Given the description of an element on the screen output the (x, y) to click on. 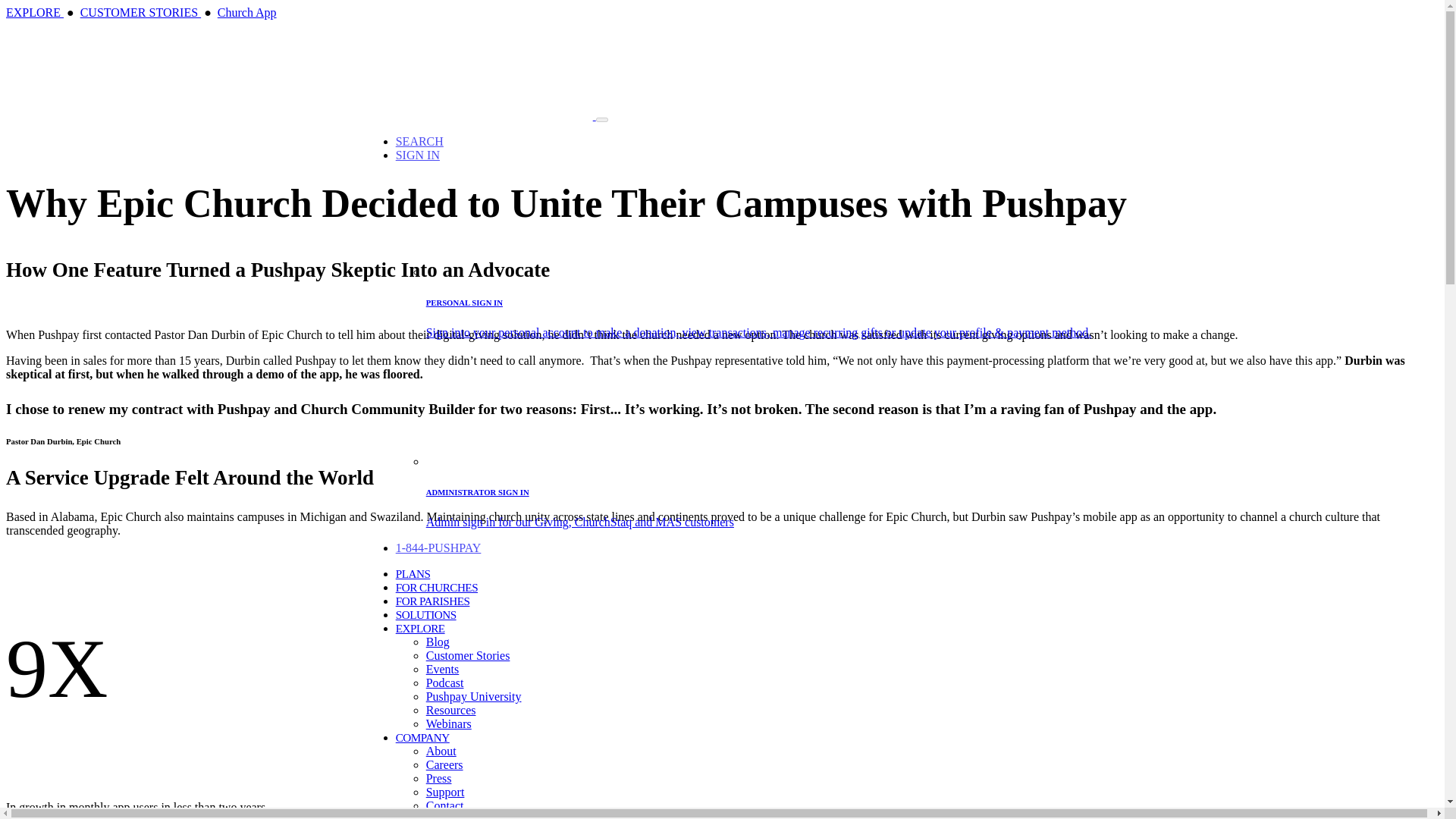
FOR PARISHES (433, 600)
FOR CHURCHES (436, 586)
PLANS (413, 573)
1-844-PUSHPAY (438, 547)
SEARCH (420, 141)
SIGN IN (417, 154)
